Given the description of an element on the screen output the (x, y) to click on. 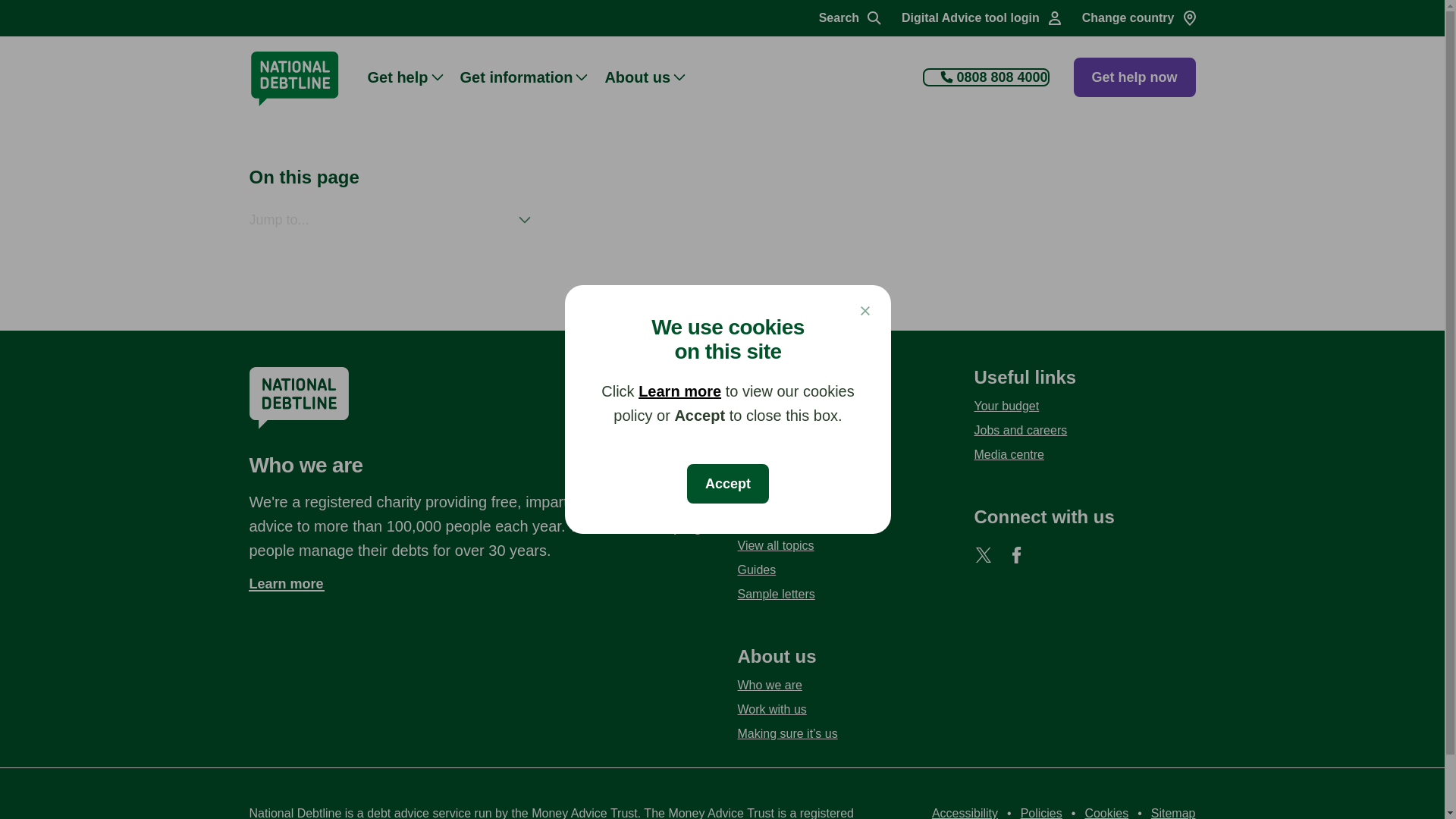
Change country (1139, 17)
Accept (727, 483)
Search (850, 17)
Get information (532, 76)
Digital Advice tool login (982, 17)
Get help (413, 76)
Get help now (1134, 77)
Learn more (679, 391)
About us (652, 76)
0808 808 4000 (985, 76)
